Given the description of an element on the screen output the (x, y) to click on. 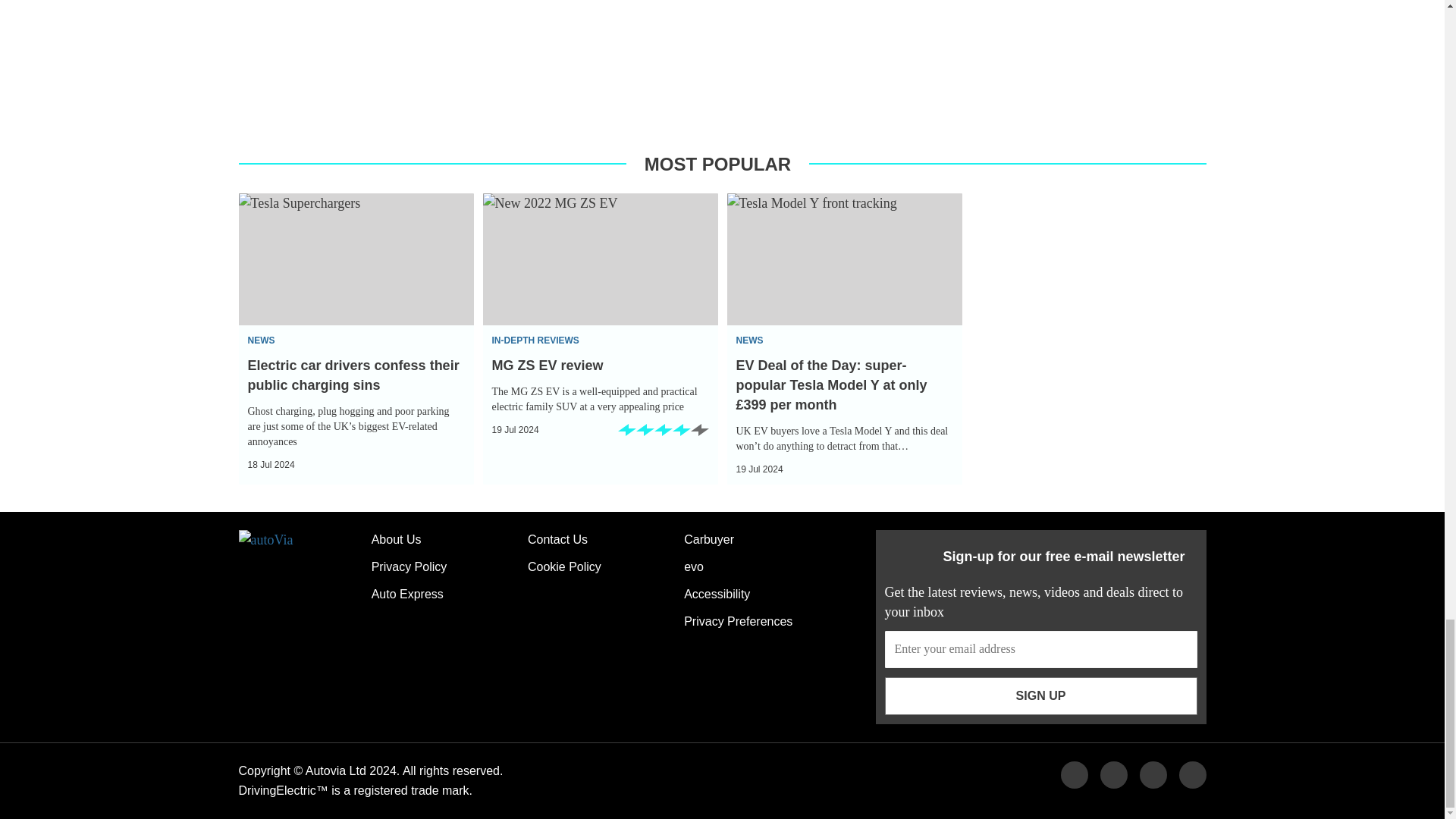
4 Stars (662, 435)
Subscribe (1039, 648)
Subscribe (1039, 695)
